Given the description of an element on the screen output the (x, y) to click on. 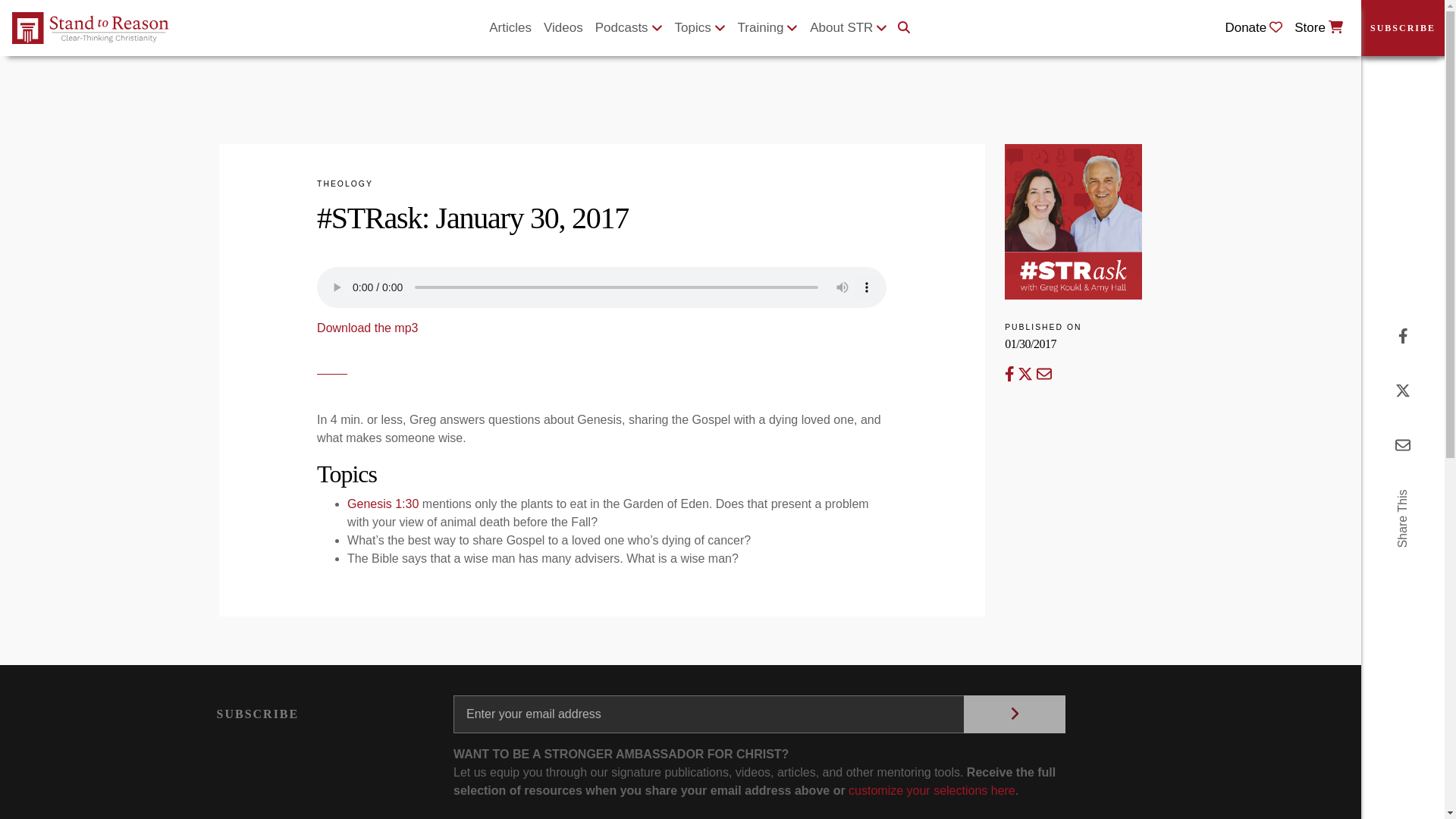
Topics (700, 28)
Articles (510, 28)
Training (768, 28)
Videos (563, 28)
Podcasts (628, 28)
About STR (848, 28)
